Given the description of an element on the screen output the (x, y) to click on. 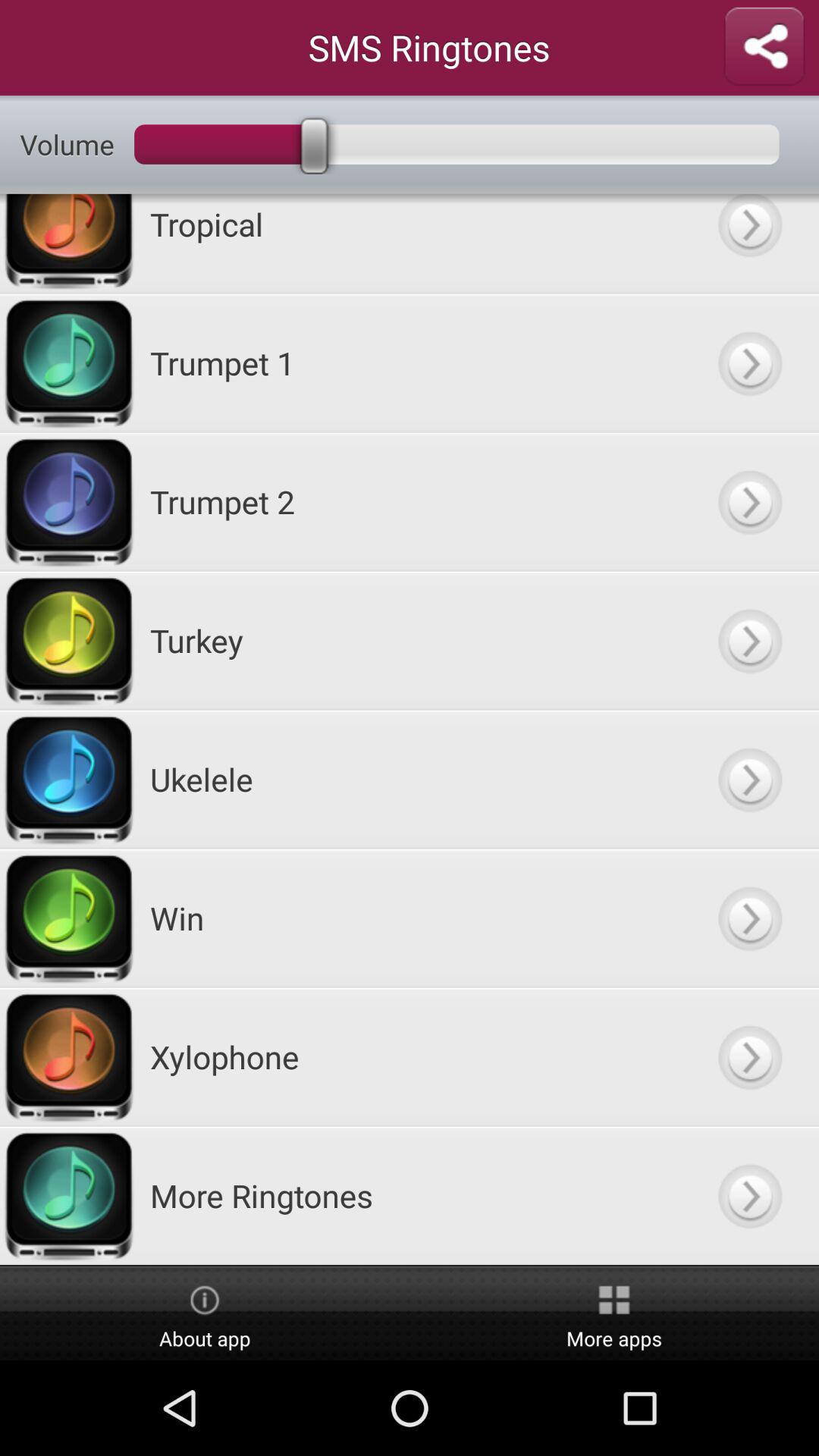
go next option (749, 779)
